Given the description of an element on the screen output the (x, y) to click on. 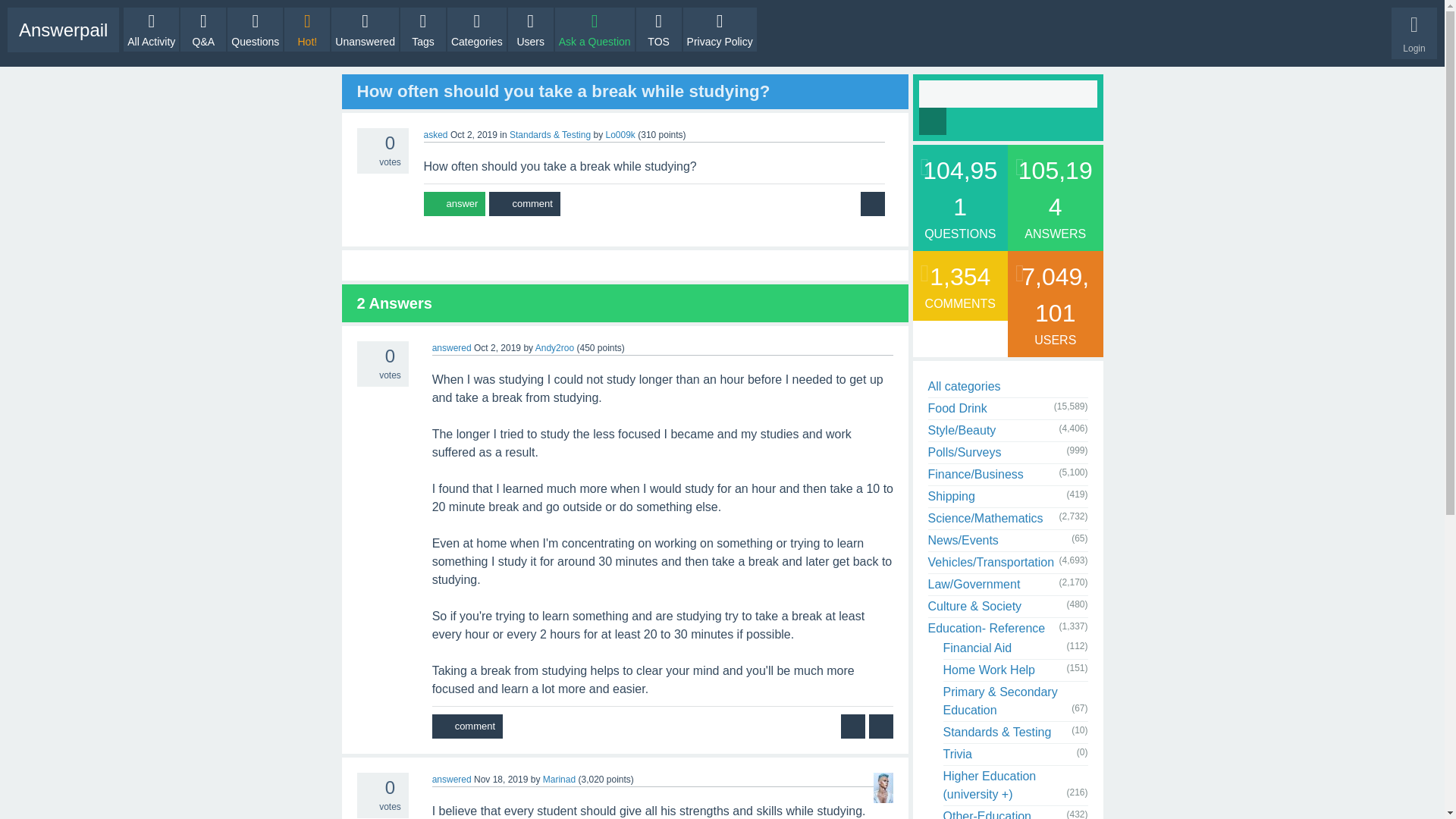
asked (434, 134)
Ask a Question (594, 29)
Ask a new question relating to this answer (852, 726)
flag (881, 726)
Click to vote up (365, 783)
Click to vote down (365, 375)
Andy2roo (554, 347)
All Activity (151, 29)
Flag this answer as spam or inappropriate (881, 726)
Unanswered (364, 29)
answer (453, 203)
flag (872, 203)
Flag this question as spam or inappropriate (872, 203)
ask related question (852, 726)
Add a comment on this question (524, 203)
